Given the description of an element on the screen output the (x, y) to click on. 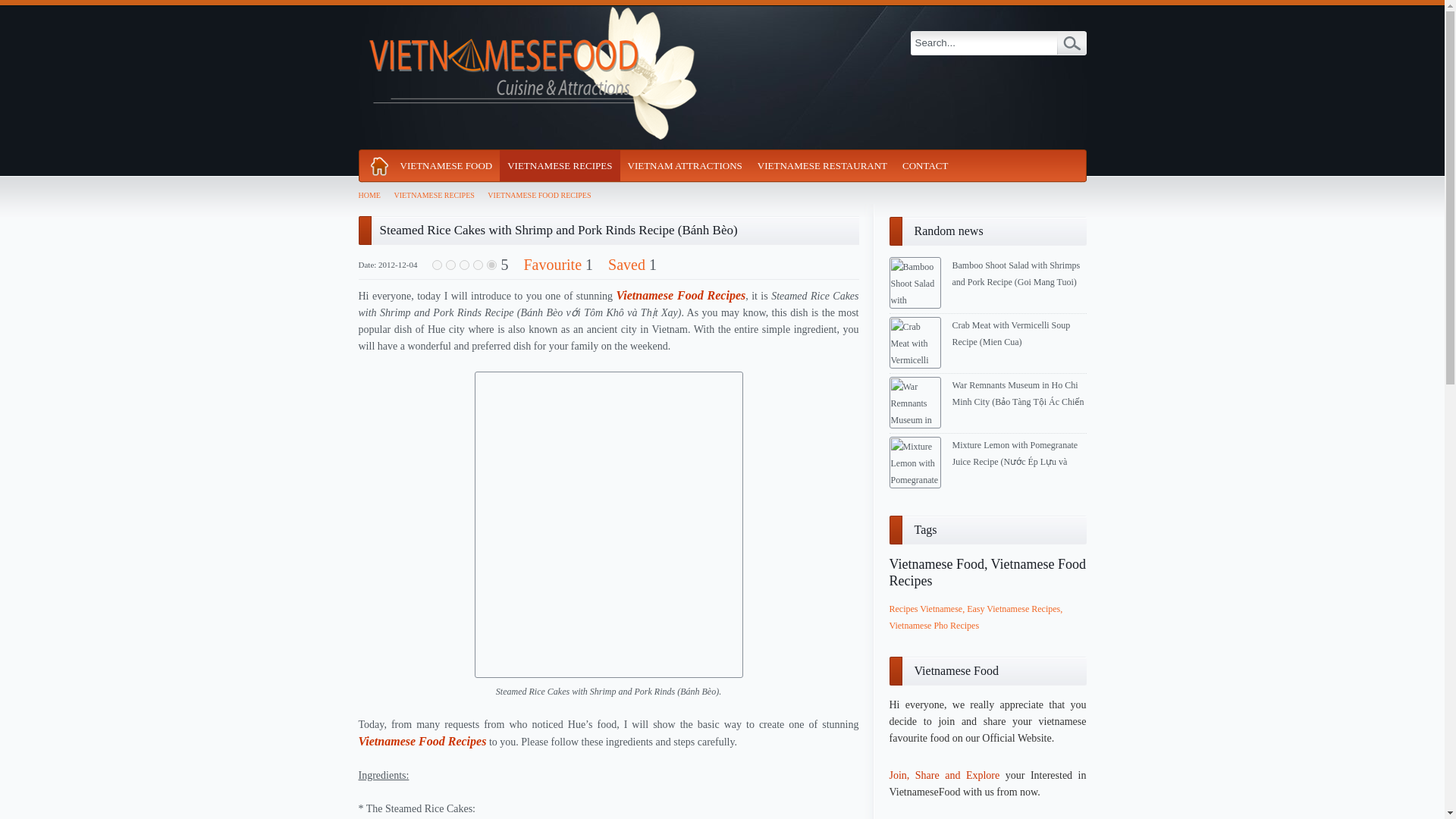
VietnameseFood (529, 77)
Vietnamese Food (446, 164)
VIETNAM ATTRACTIONS (684, 164)
CONTACT (925, 164)
Search... (983, 43)
1 (437, 265)
VIETNAMESE RECIPES (559, 164)
VIETNAMESE FOOD RECIPES (542, 194)
4 (478, 265)
HOME (372, 194)
Vietnamese Recipes (559, 164)
2 (450, 265)
VIETNAMESE FOOD (446, 164)
VIETNAMESE RECIPES (437, 194)
3 (464, 265)
